Given the description of an element on the screen output the (x, y) to click on. 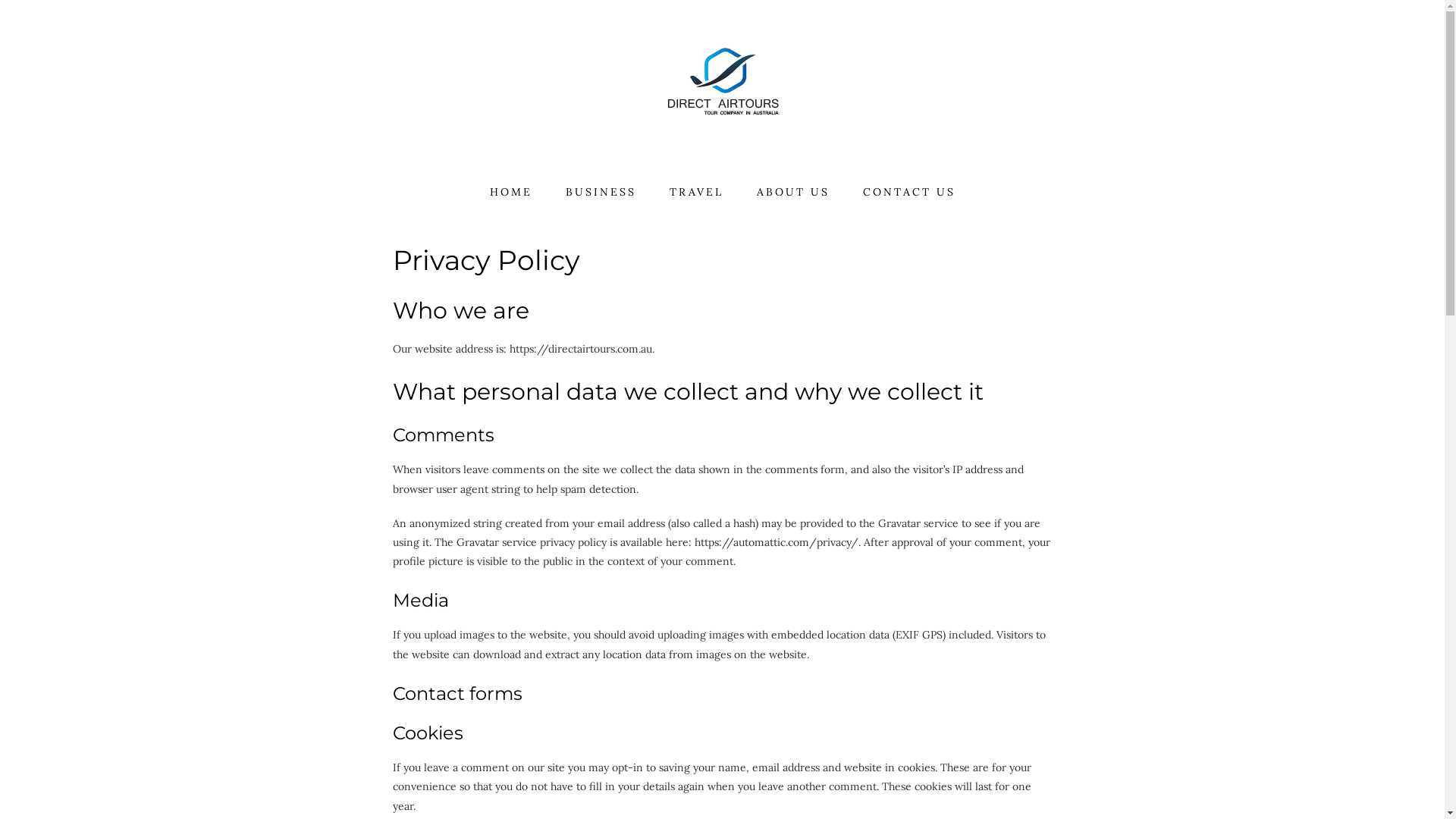
TRAVEL Element type: text (695, 192)
HOME Element type: text (510, 192)
BUSINESS Element type: text (600, 192)
ABOUT US Element type: text (792, 192)
CONTACT US Element type: text (908, 192)
